Given the description of an element on the screen output the (x, y) to click on. 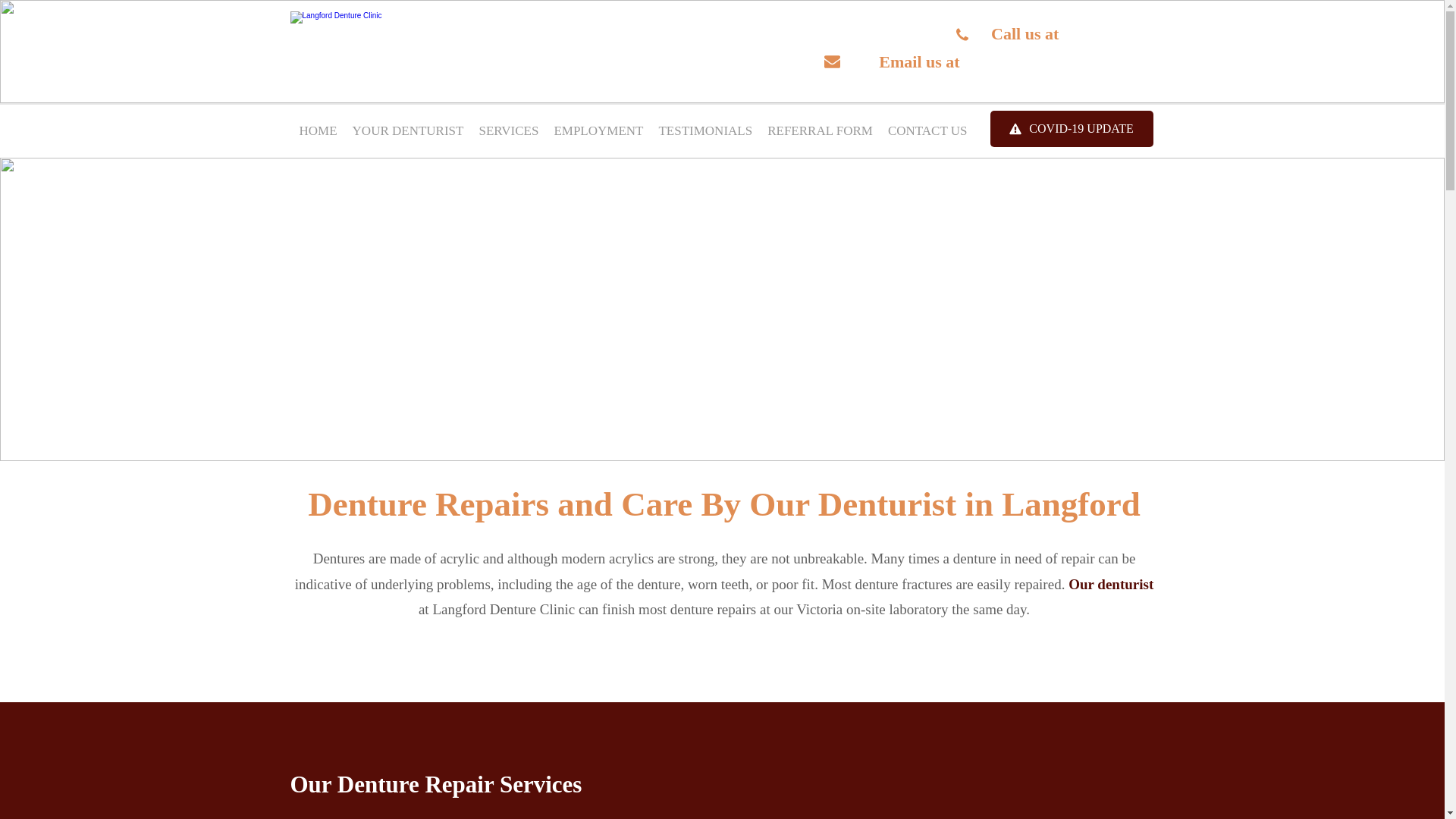
COVID-19 UPDATE (1071, 128)
HOME (318, 130)
CONTACT US (927, 130)
EMPLOYMENT (598, 130)
Our denturist (1108, 584)
YOUR DENTURIST (408, 130)
250-478-0708 (1109, 33)
SERVICES (508, 130)
TESTIMONIALS (705, 130)
